Given the description of an element on the screen output the (x, y) to click on. 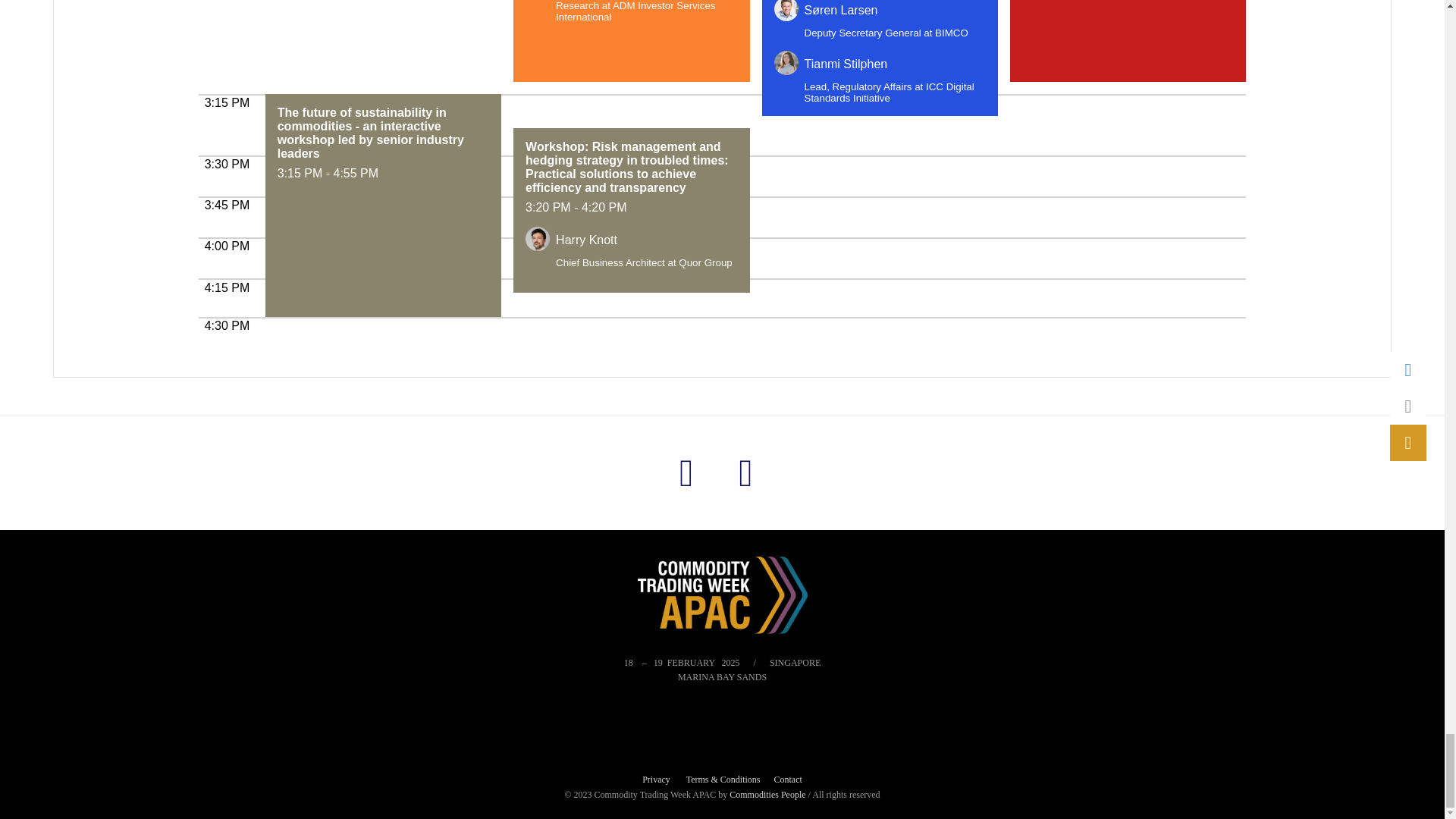
Privacy (655, 779)
Contact (787, 779)
Commodities People (768, 794)
